Given the description of an element on the screen output the (x, y) to click on. 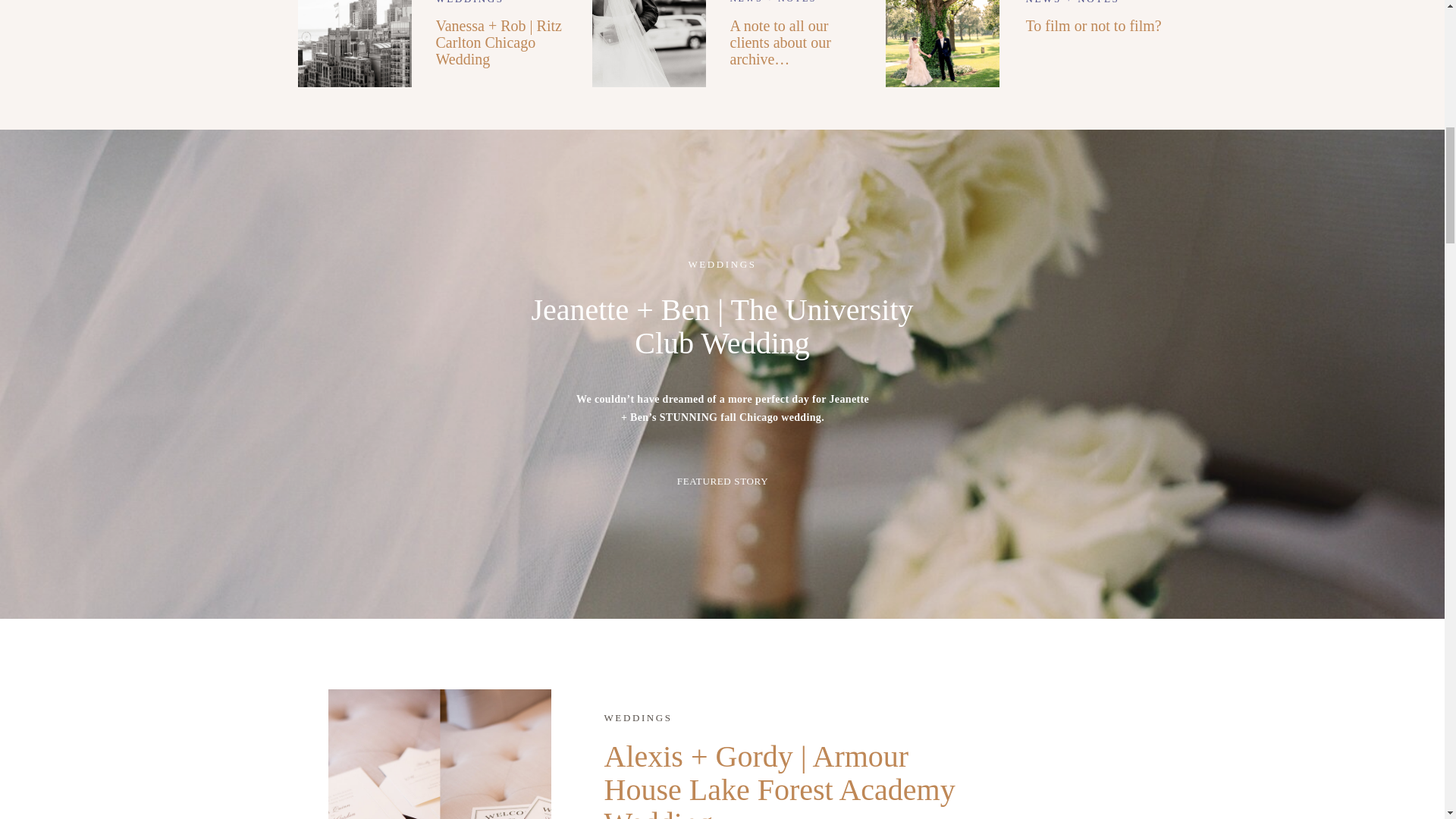
WEDDINGS (721, 264)
To film or not to film? (1092, 25)
WEDDINGS (469, 2)
FEATURED STORY (722, 480)
To film or not to film? (941, 43)
